Given the description of an element on the screen output the (x, y) to click on. 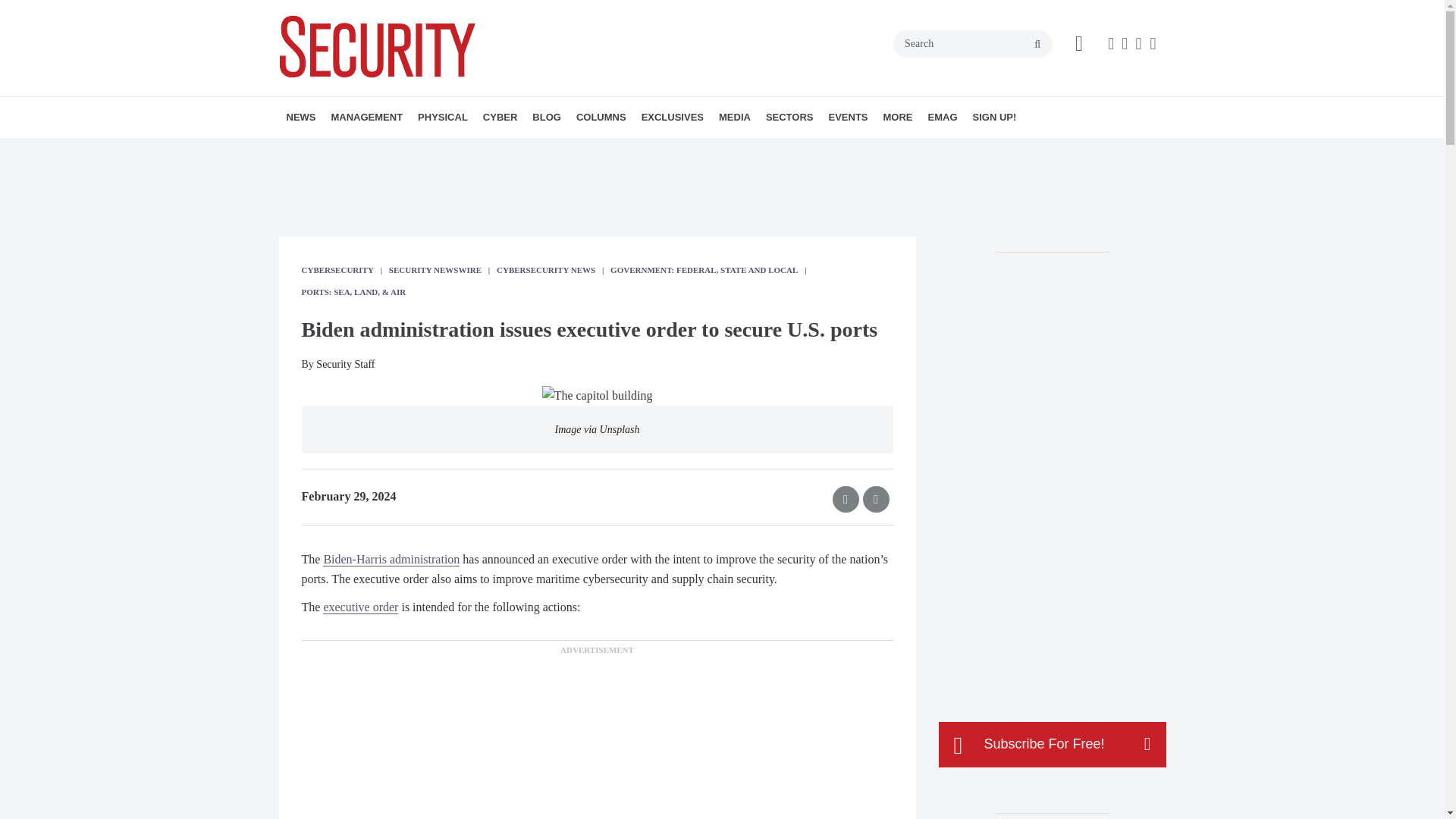
VIDEO SURVEILLANCE (512, 150)
ACCESS MANAGEMENT (504, 150)
PHYSICAL (443, 117)
SECURITY TALK (676, 150)
IDENTITY MANAGEMENT (517, 150)
CYBERSECURITY NEWS (570, 150)
CYBER (500, 117)
LEADERSHIP MANAGEMENT (417, 150)
Search (972, 43)
Search (972, 43)
